Given the description of an element on the screen output the (x, y) to click on. 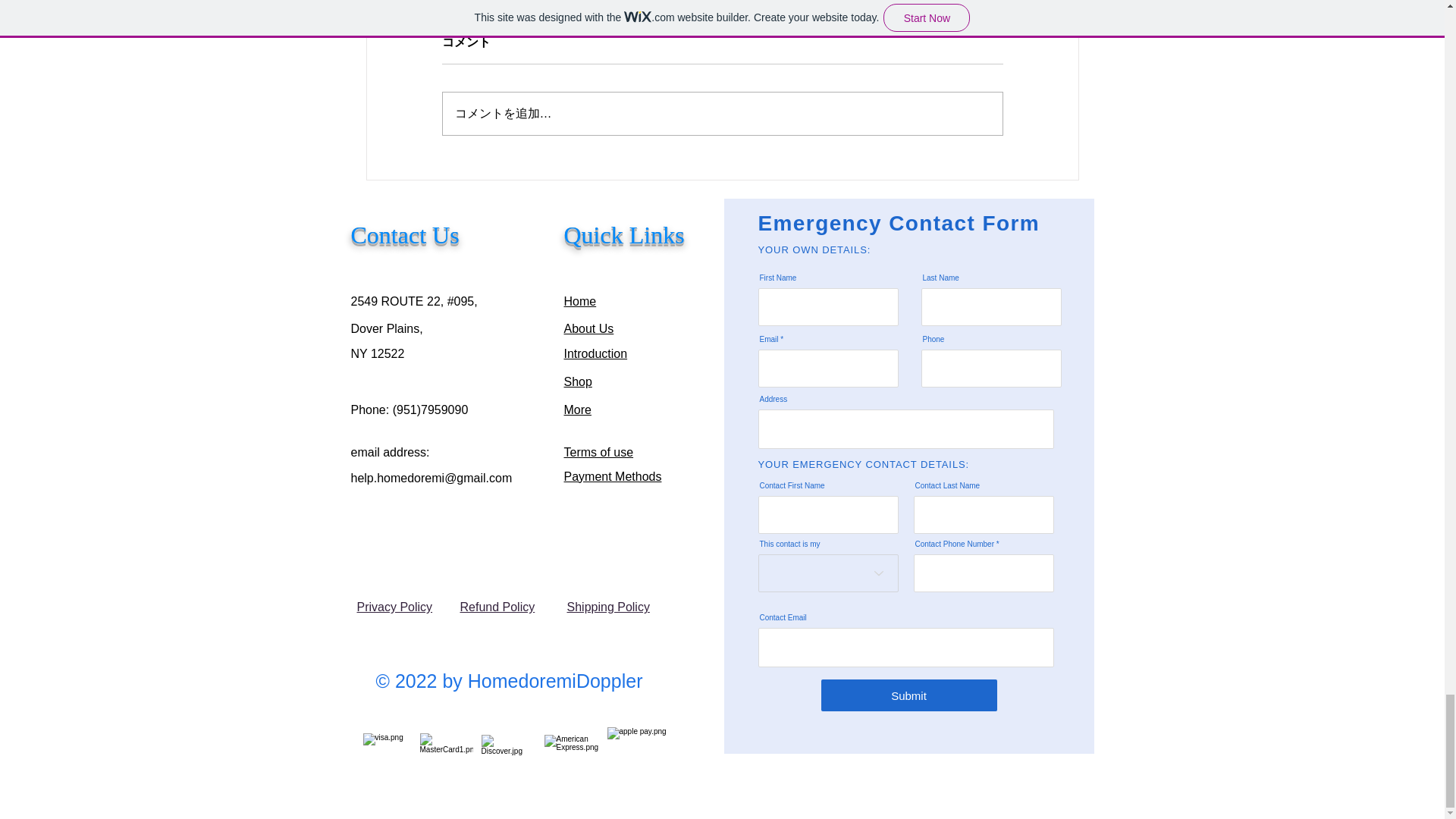
Quick Links (624, 234)
Home (580, 300)
More (577, 409)
Introduction (595, 353)
Shop (578, 381)
About Us (589, 328)
